Given the description of an element on the screen output the (x, y) to click on. 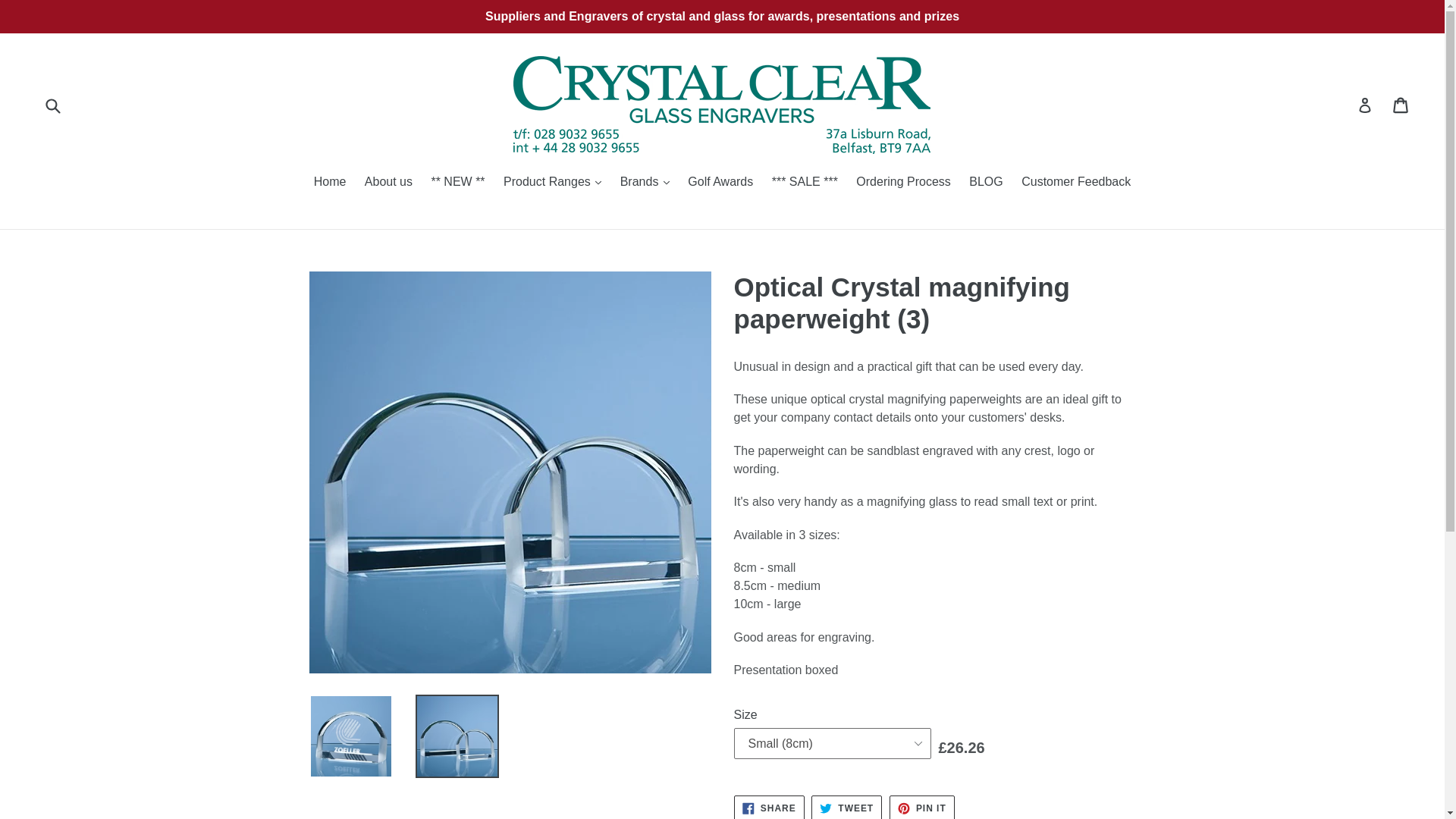
Share on Facebook (769, 807)
Pin on Pinterest (922, 807)
Tweet on Twitter (846, 807)
